Given the description of an element on the screen output the (x, y) to click on. 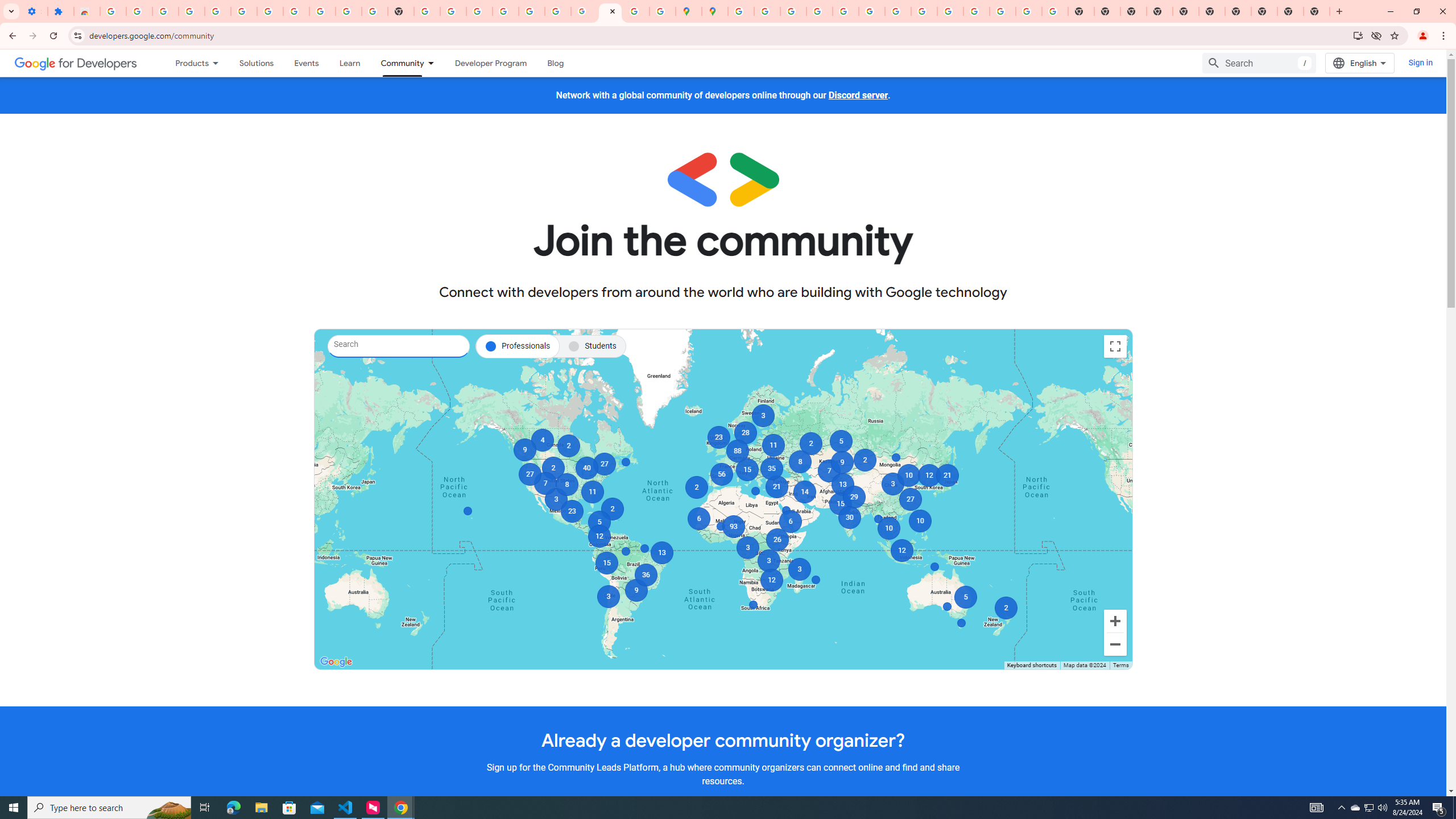
14 (804, 491)
Google (336, 661)
Learning Catalog (350, 62)
Dropdown menu for Community (433, 62)
40 (586, 468)
7 (544, 482)
Solutions (255, 62)
English (1359, 63)
Open this area in Google Maps (opens a new window) (336, 661)
9 (523, 449)
11 (592, 491)
